Given the description of an element on the screen output the (x, y) to click on. 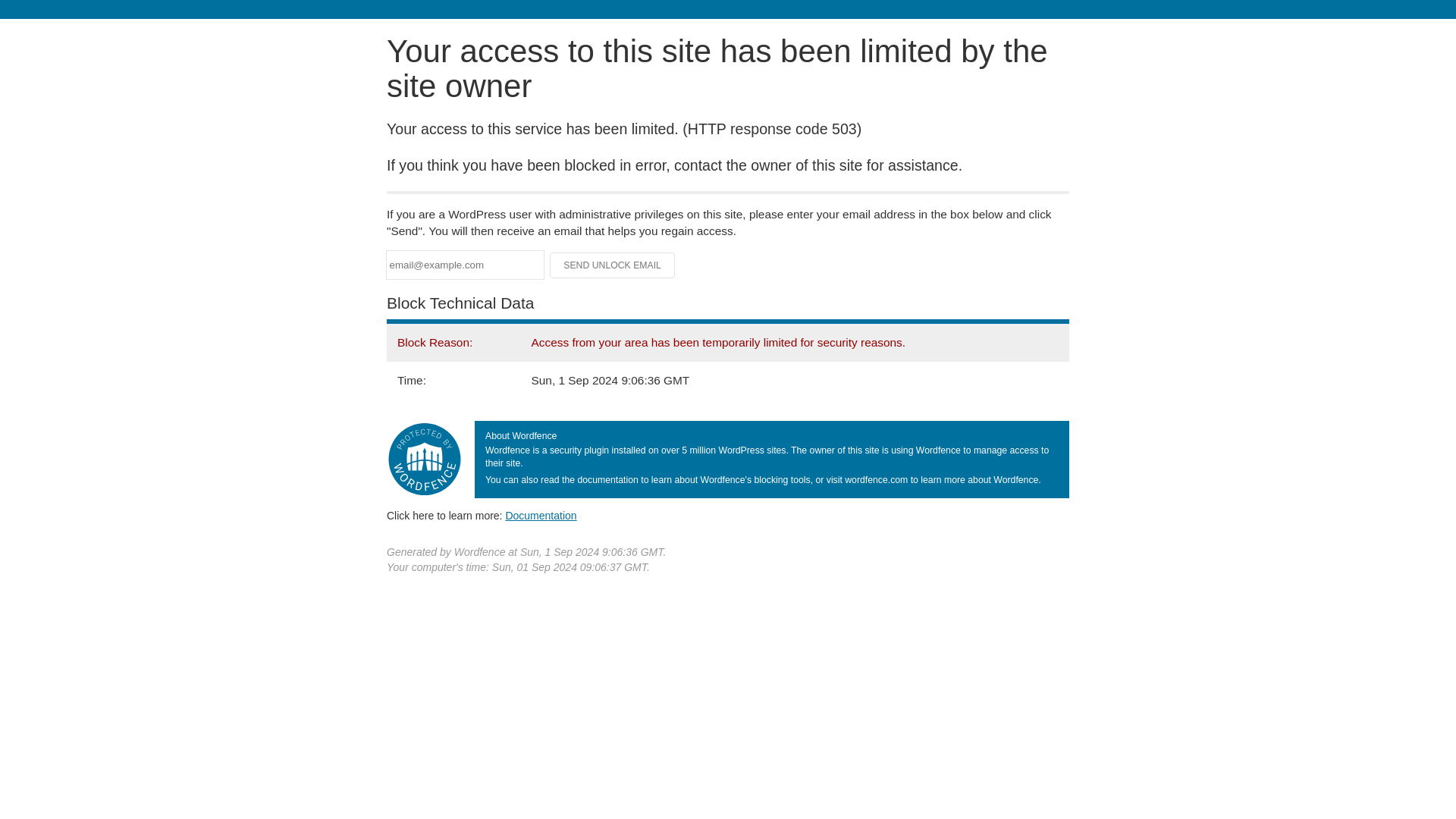
Send Unlock Email (612, 265)
Send Unlock Email (612, 265)
Documentation (540, 515)
